Given the description of an element on the screen output the (x, y) to click on. 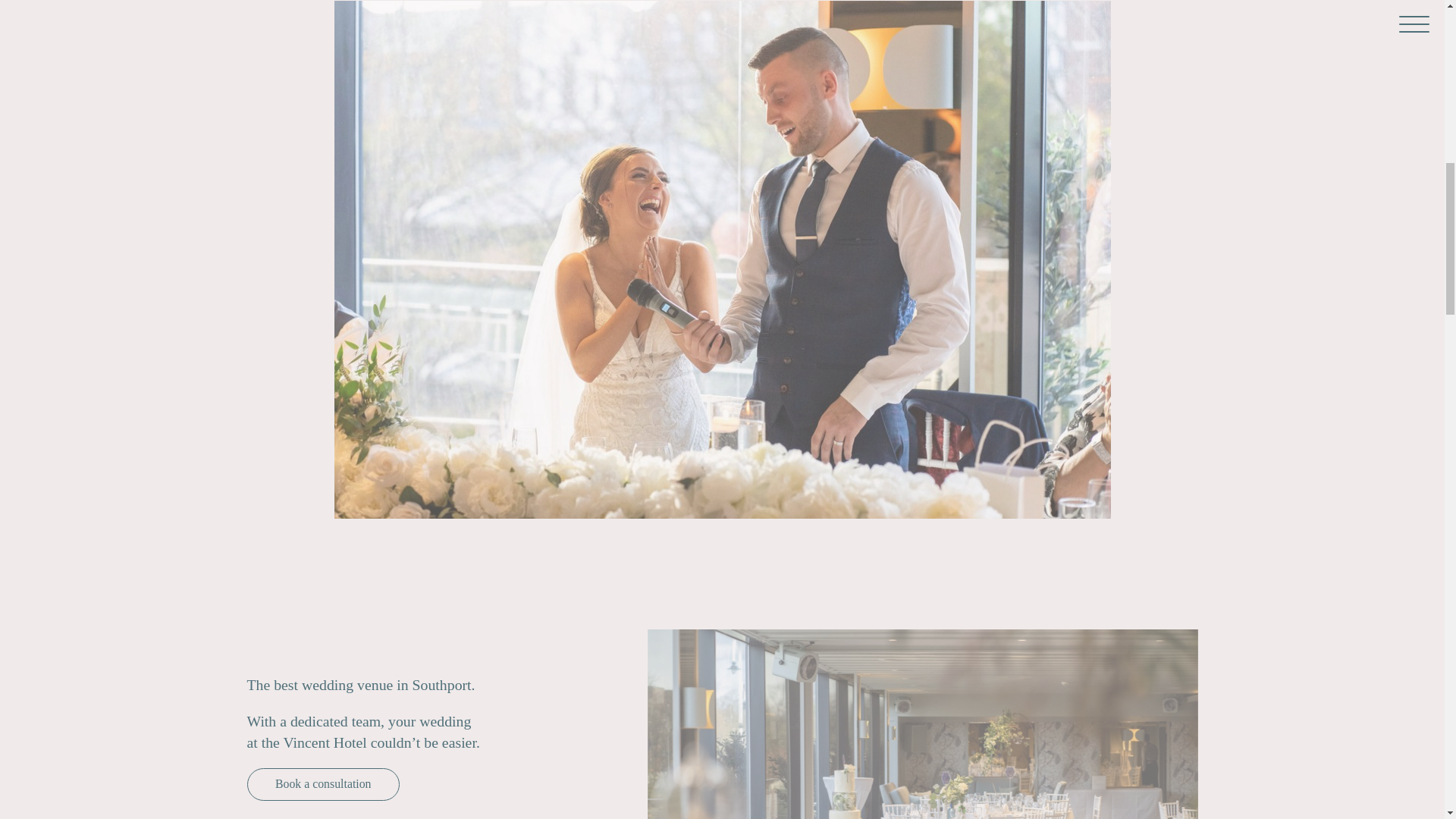
Book a consultation (322, 784)
